Given the description of an element on the screen output the (x, y) to click on. 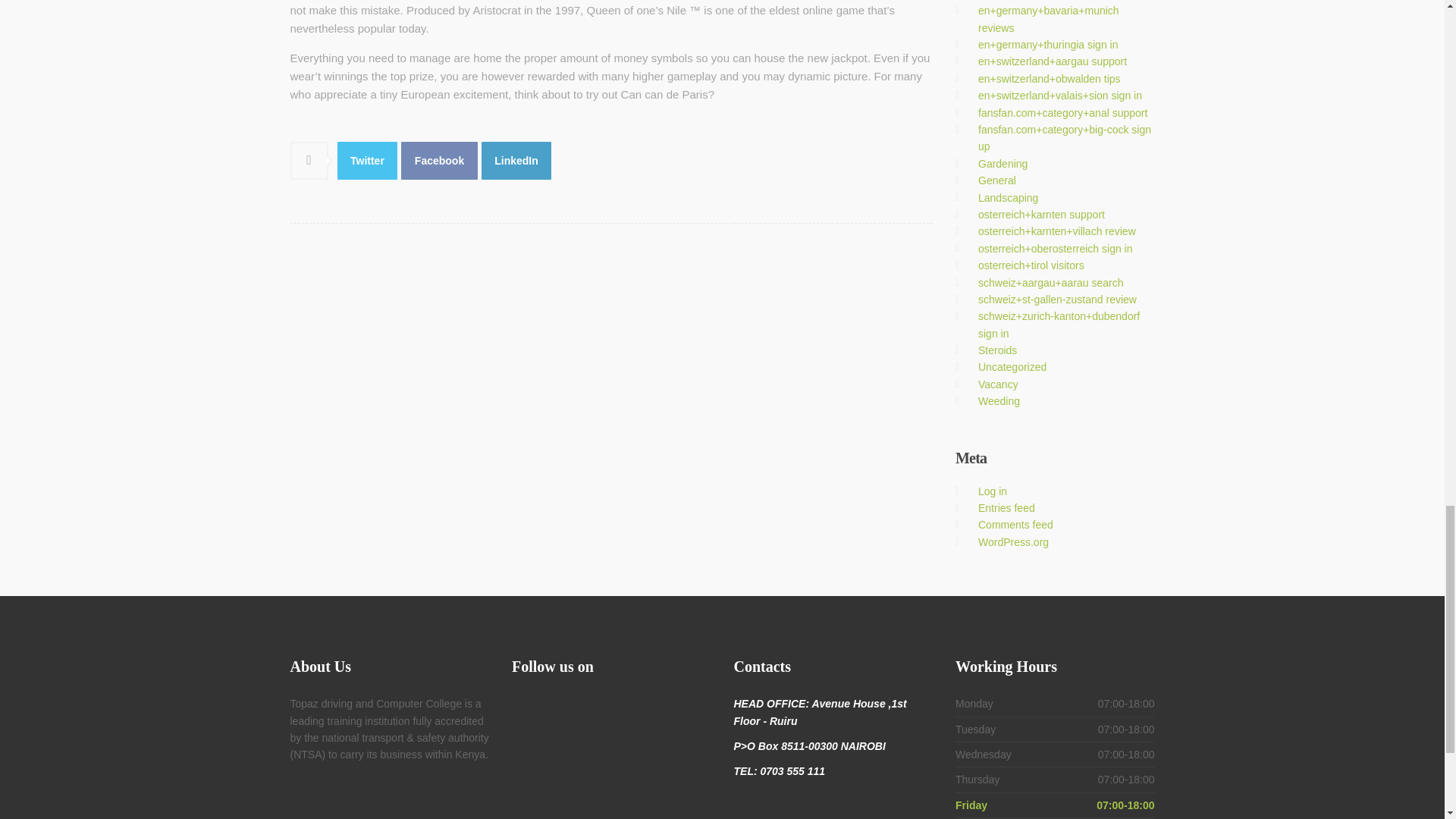
Aristocrat Free Slots (516, 160)
Aristocrat Free Slots (366, 160)
Aristocrat Free Slots (439, 160)
